Given the description of an element on the screen output the (x, y) to click on. 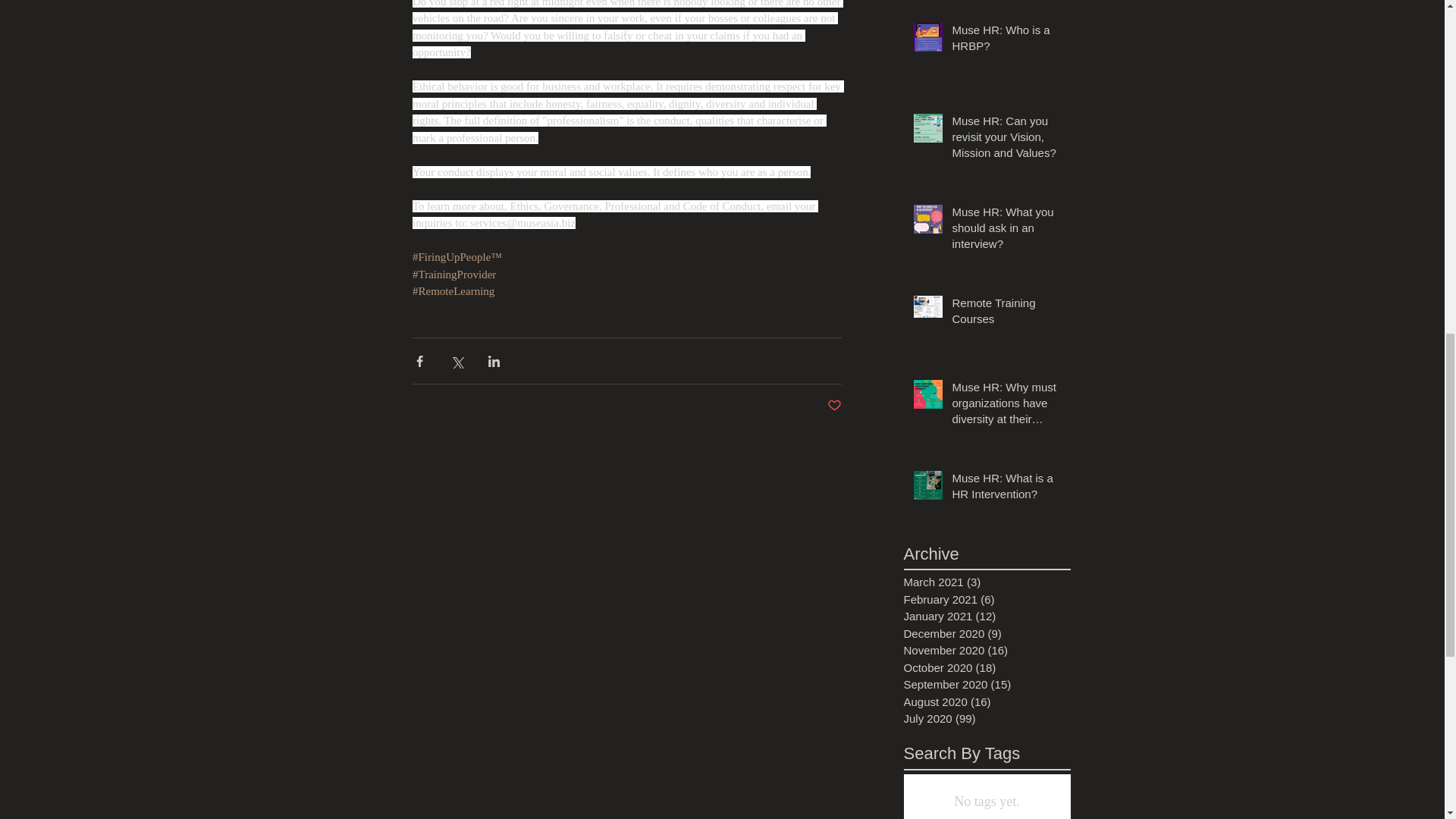
Muse HR: Can you revisit your Vision, Mission and Values? (1006, 140)
Muse HR: What is a HR Intervention? (1006, 488)
Muse HR: Who is a HRBP? (1006, 40)
Post not marked as liked (834, 406)
Muse HR: What you should ask in an interview? (1006, 230)
Remote Training Courses (1006, 313)
